Given the description of an element on the screen output the (x, y) to click on. 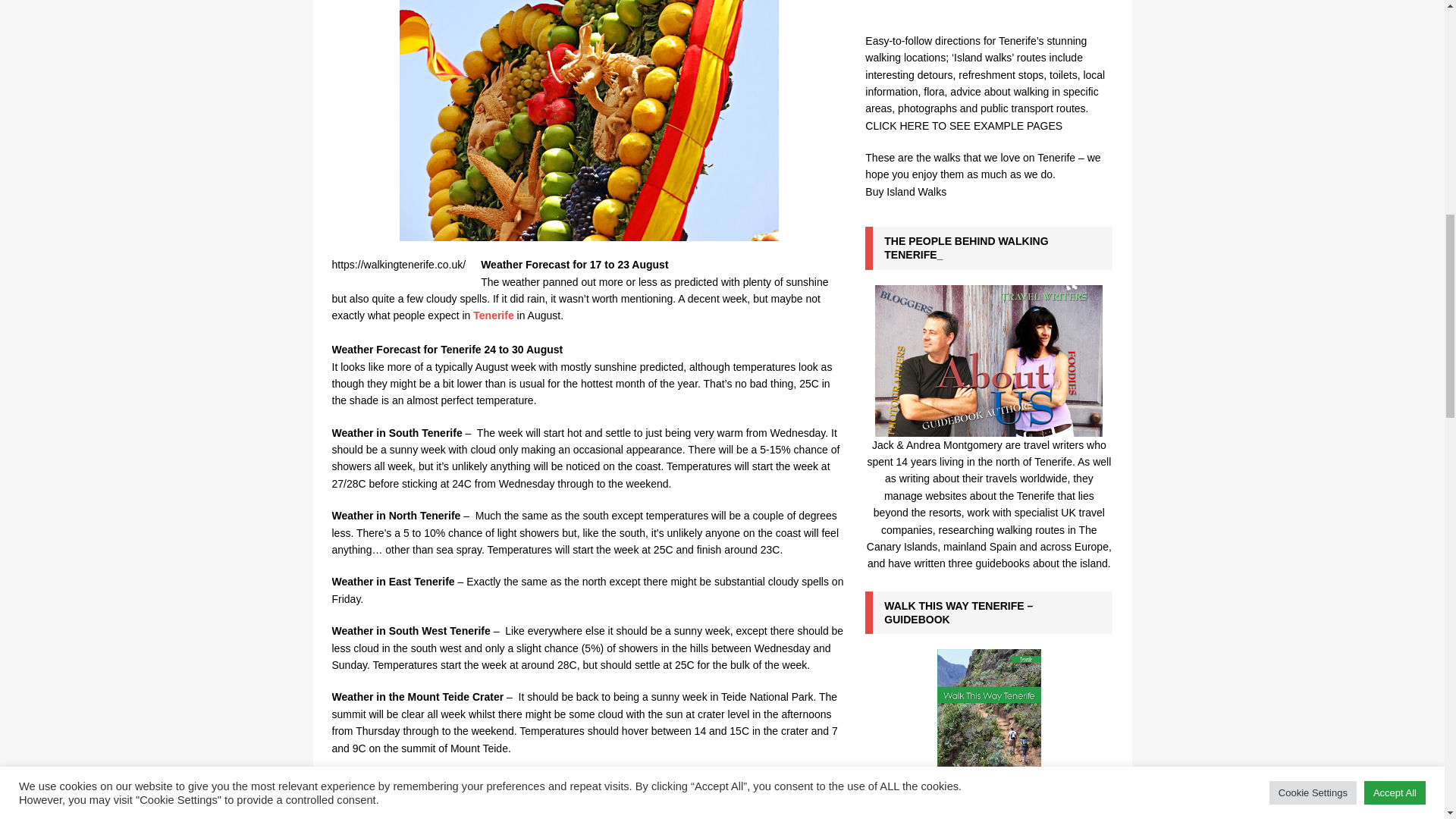
Hearts of Tejina, Tenerife (588, 120)
